Given the description of an element on the screen output the (x, y) to click on. 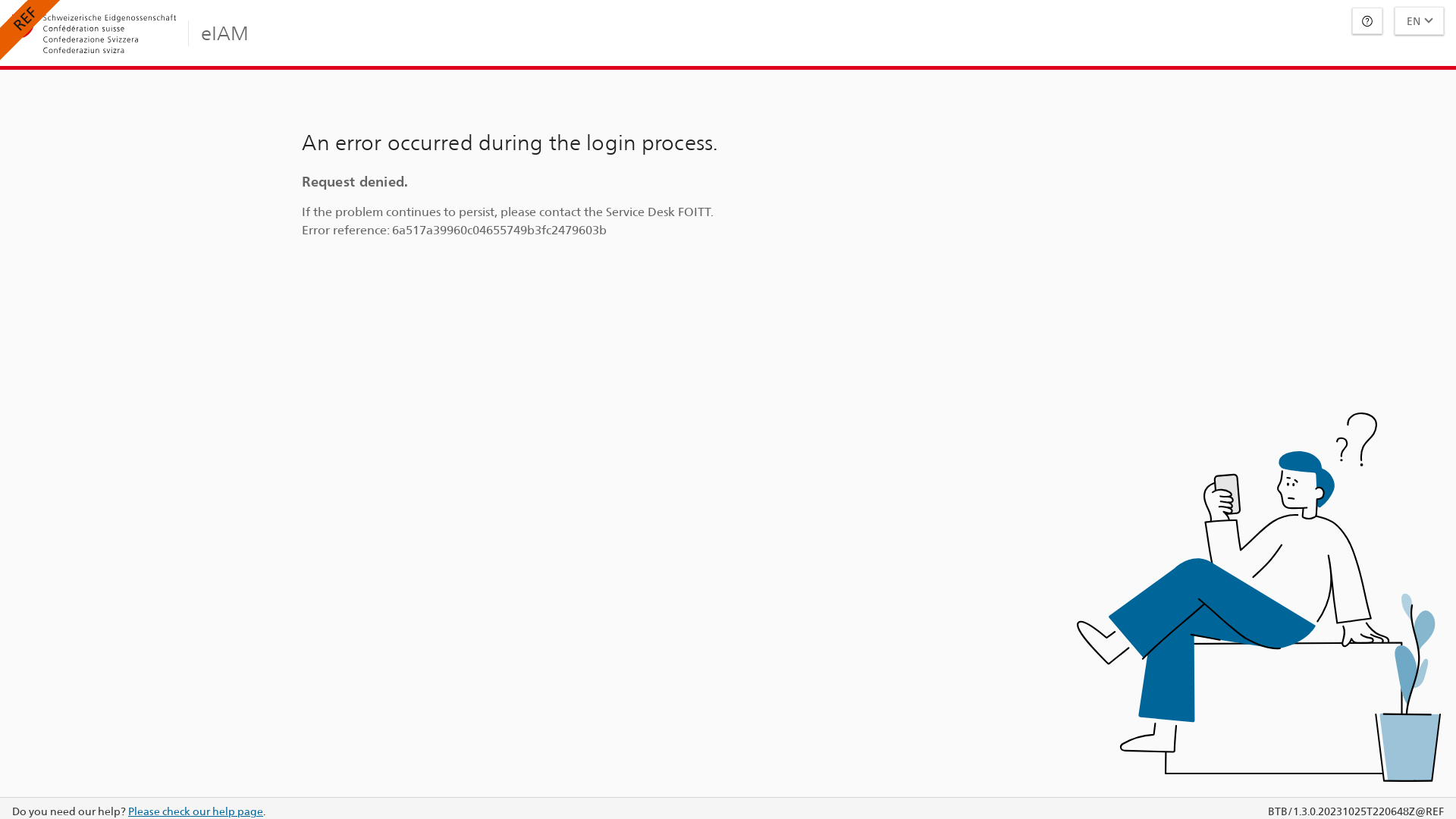
Please check our help page Element type: text (195, 811)
EN Element type: text (1418, 20)
